Given the description of an element on the screen output the (x, y) to click on. 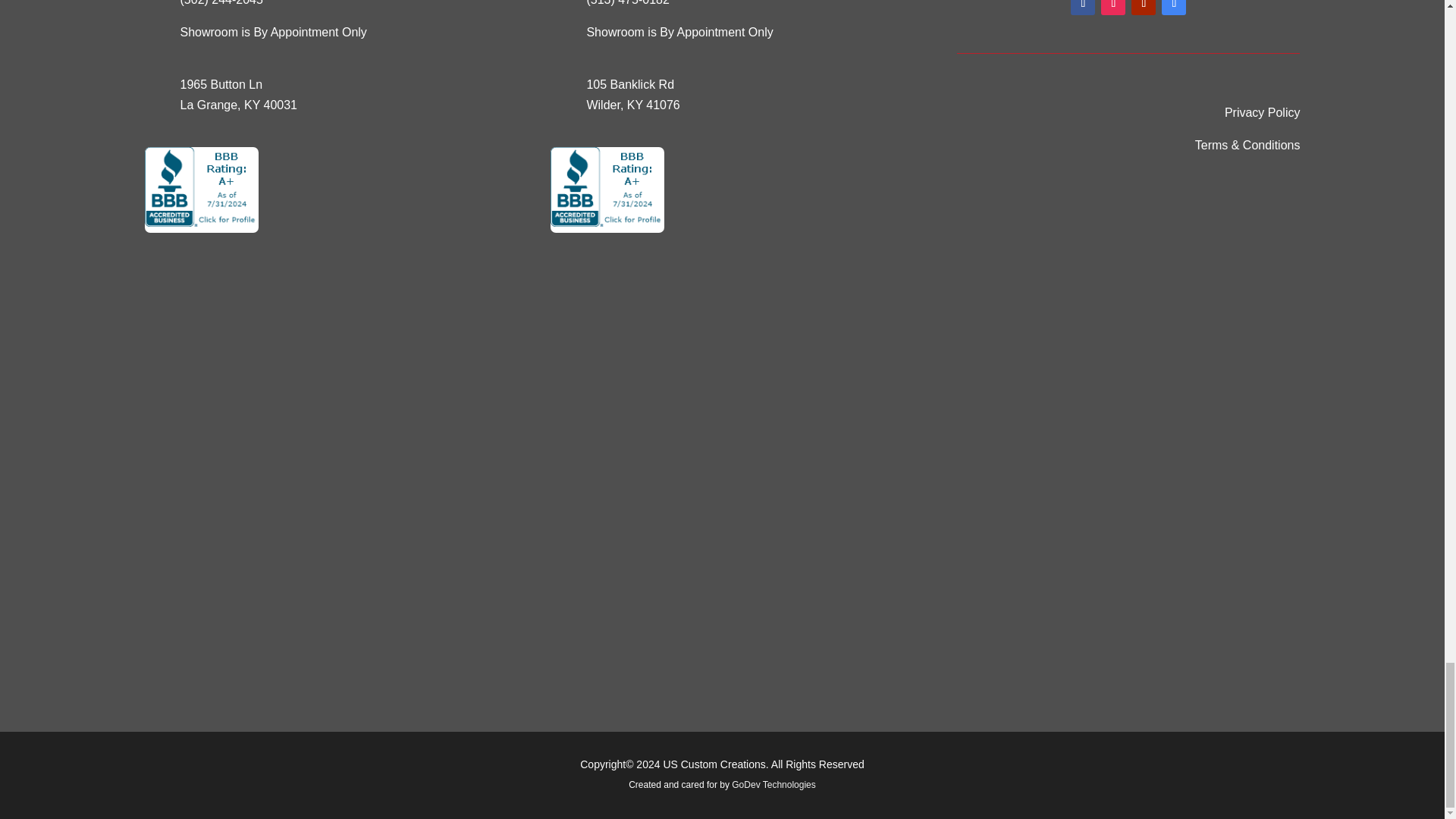
Follow on Facebook (1082, 7)
